Given the description of an element on the screen output the (x, y) to click on. 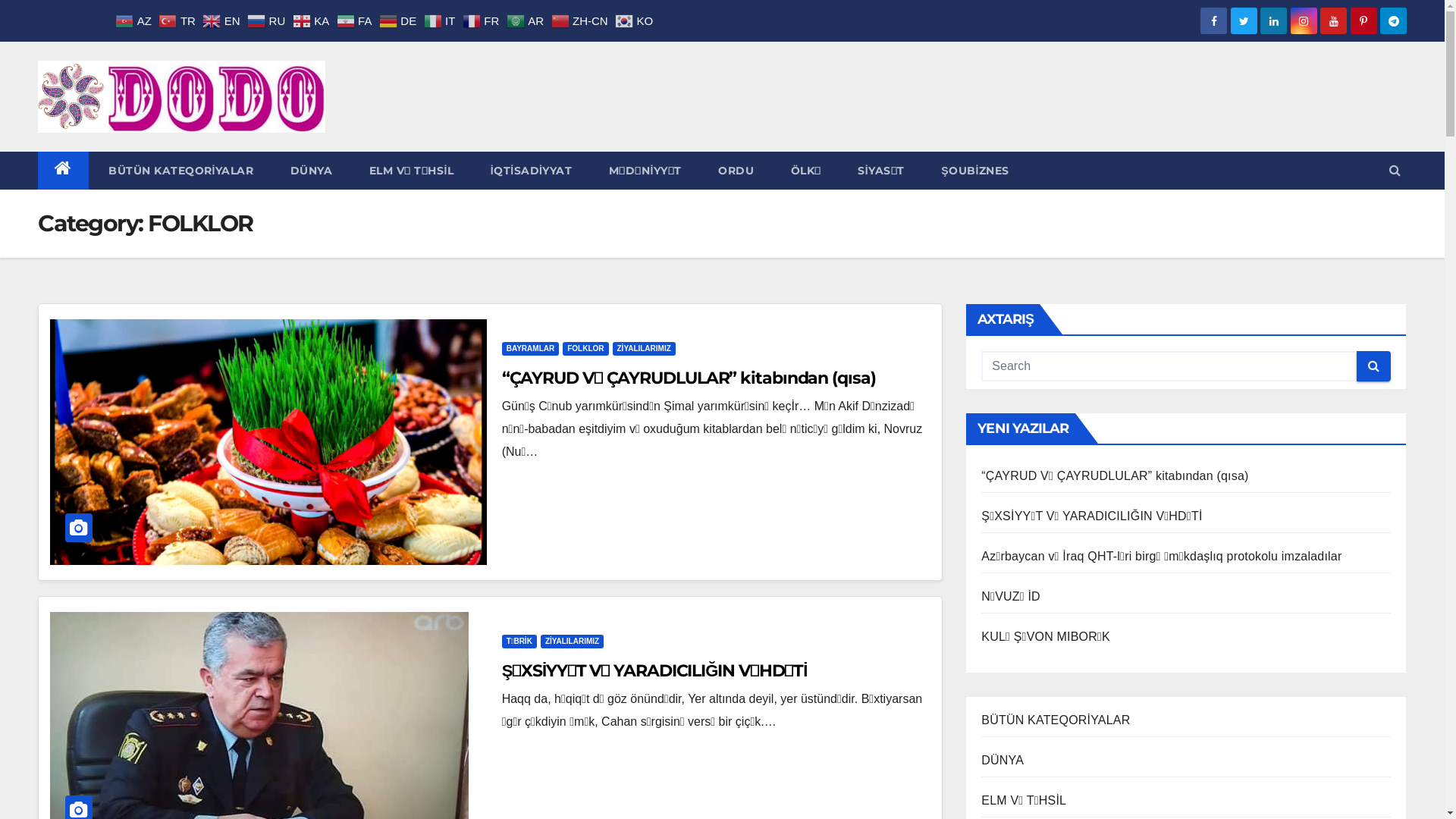
FOLKLOR Element type: text (585, 348)
 ORDU Element type: text (734, 170)
EN Element type: text (222, 19)
RU Element type: text (267, 19)
FR Element type: text (482, 19)
TR Element type: text (178, 19)
DE Element type: text (399, 19)
BAYRAMLAR Element type: text (530, 348)
KO Element type: text (635, 19)
ZH-CN Element type: text (581, 19)
IT Element type: text (441, 19)
FA Element type: text (356, 19)
AZ Element type: text (135, 19)
AR Element type: text (526, 19)
KA Element type: text (312, 19)
